Given the description of an element on the screen output the (x, y) to click on. 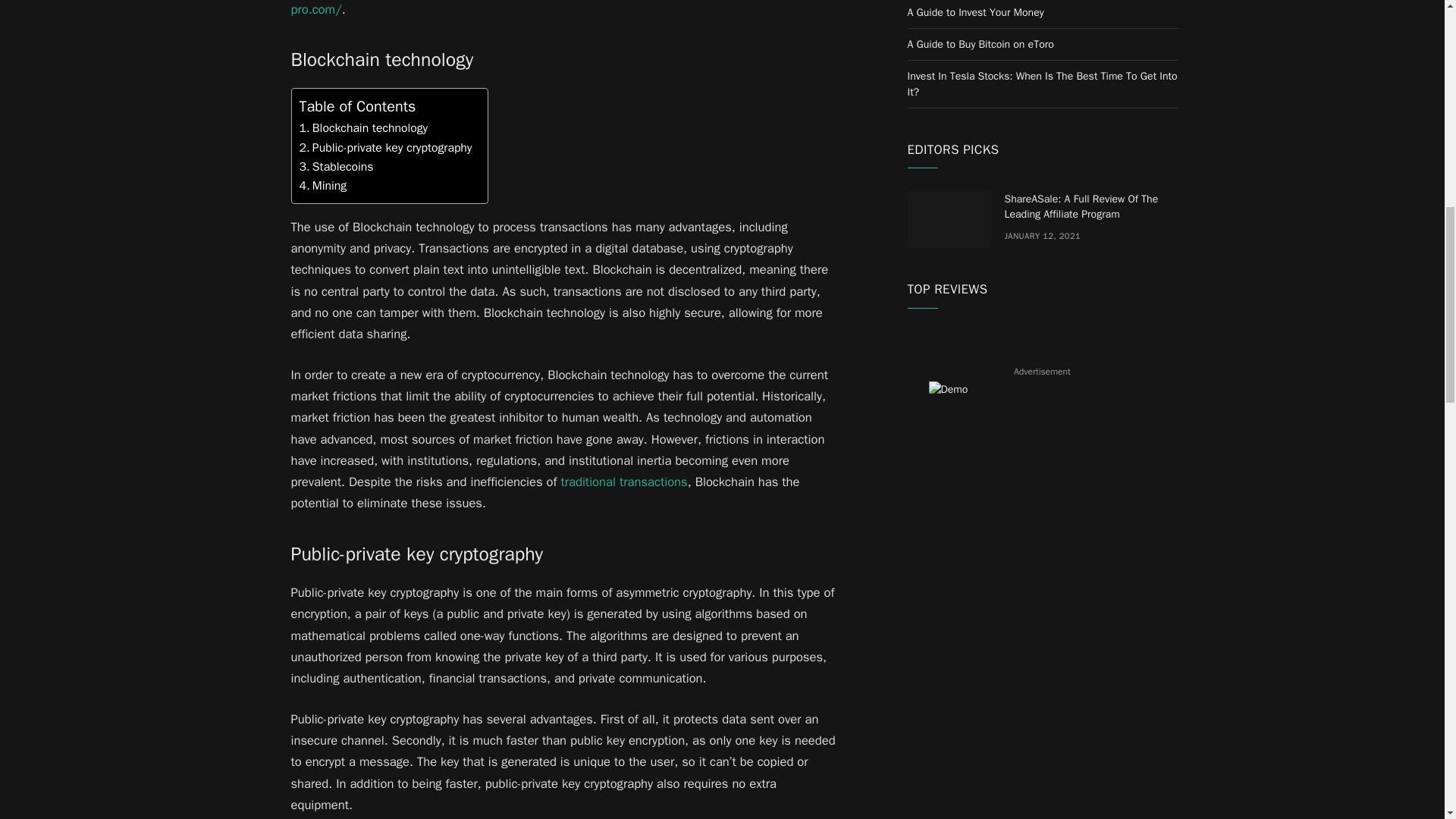
Stablecoins (343, 166)
Blockchain technology (370, 127)
Mining (329, 185)
Blockchain technology (370, 127)
Stablecoins (343, 166)
Public-private key cryptography (392, 147)
Public-private key cryptography (392, 147)
